Given the description of an element on the screen output the (x, y) to click on. 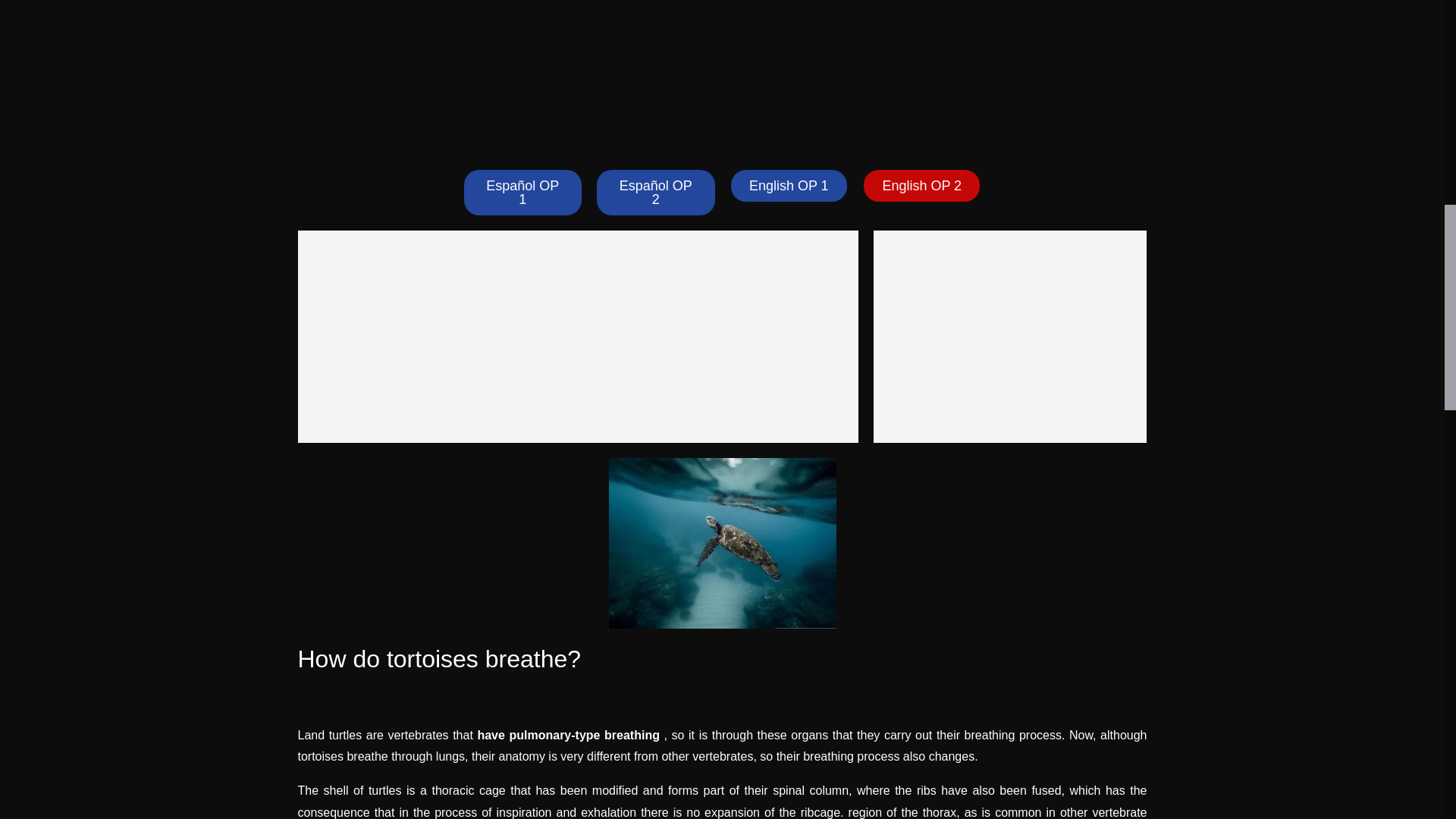
English OP 2 (921, 185)
Advertisement (578, 336)
Advertisement (1010, 336)
English OP 1 (788, 185)
